Given the description of an element on the screen output the (x, y) to click on. 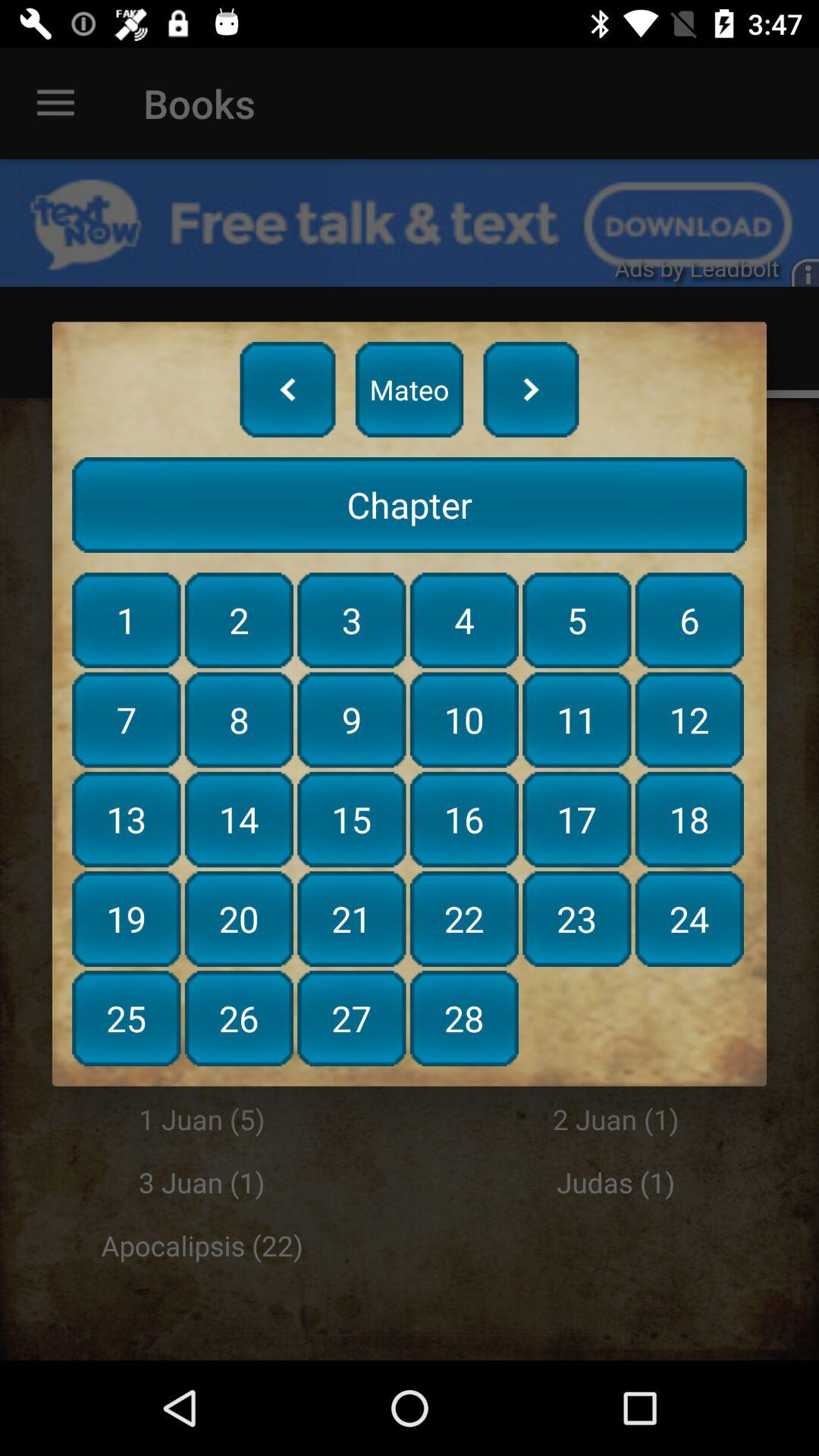
go to next (530, 389)
